Given the description of an element on the screen output the (x, y) to click on. 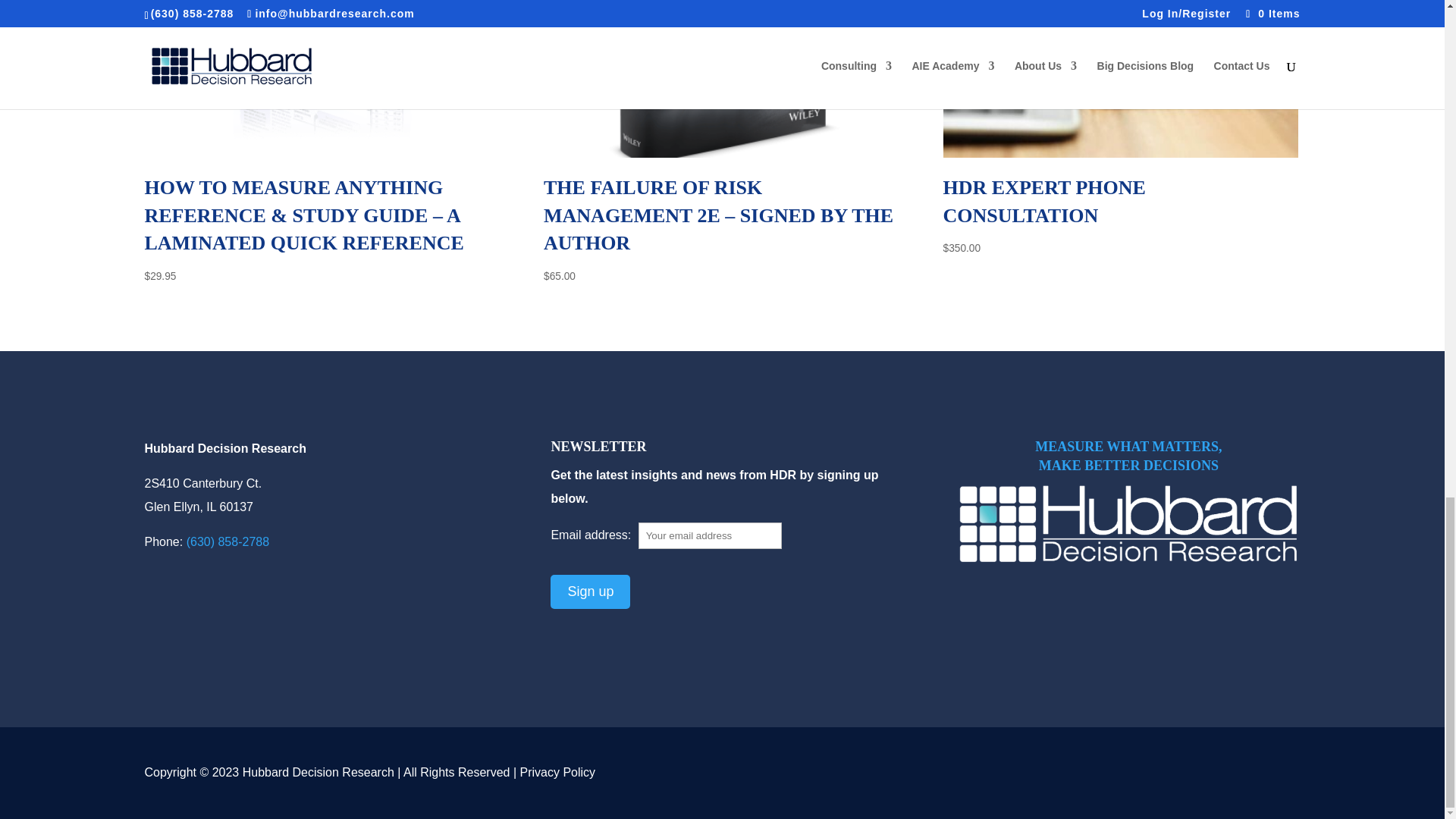
Sign up (590, 591)
Sign up (590, 591)
Privacy Policy (557, 771)
